Given the description of an element on the screen output the (x, y) to click on. 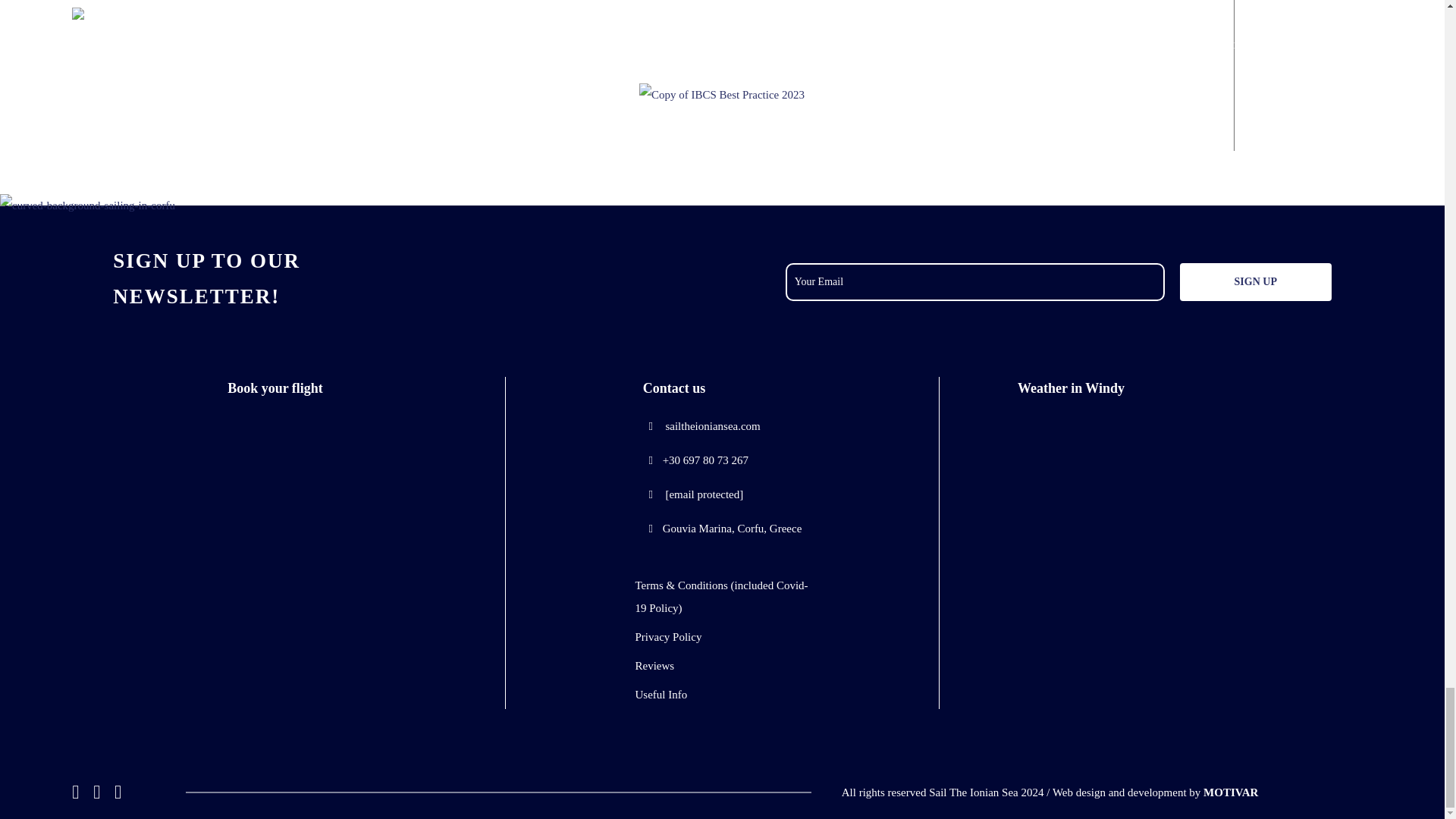
Useful Info (721, 694)
Web design and development (1119, 792)
Reviews (721, 665)
Web design and development (1230, 792)
SIGN UP (1255, 281)
Web design and development (1119, 792)
Privacy Policy (721, 636)
SIGN UP (1255, 281)
